Given the description of an element on the screen output the (x, y) to click on. 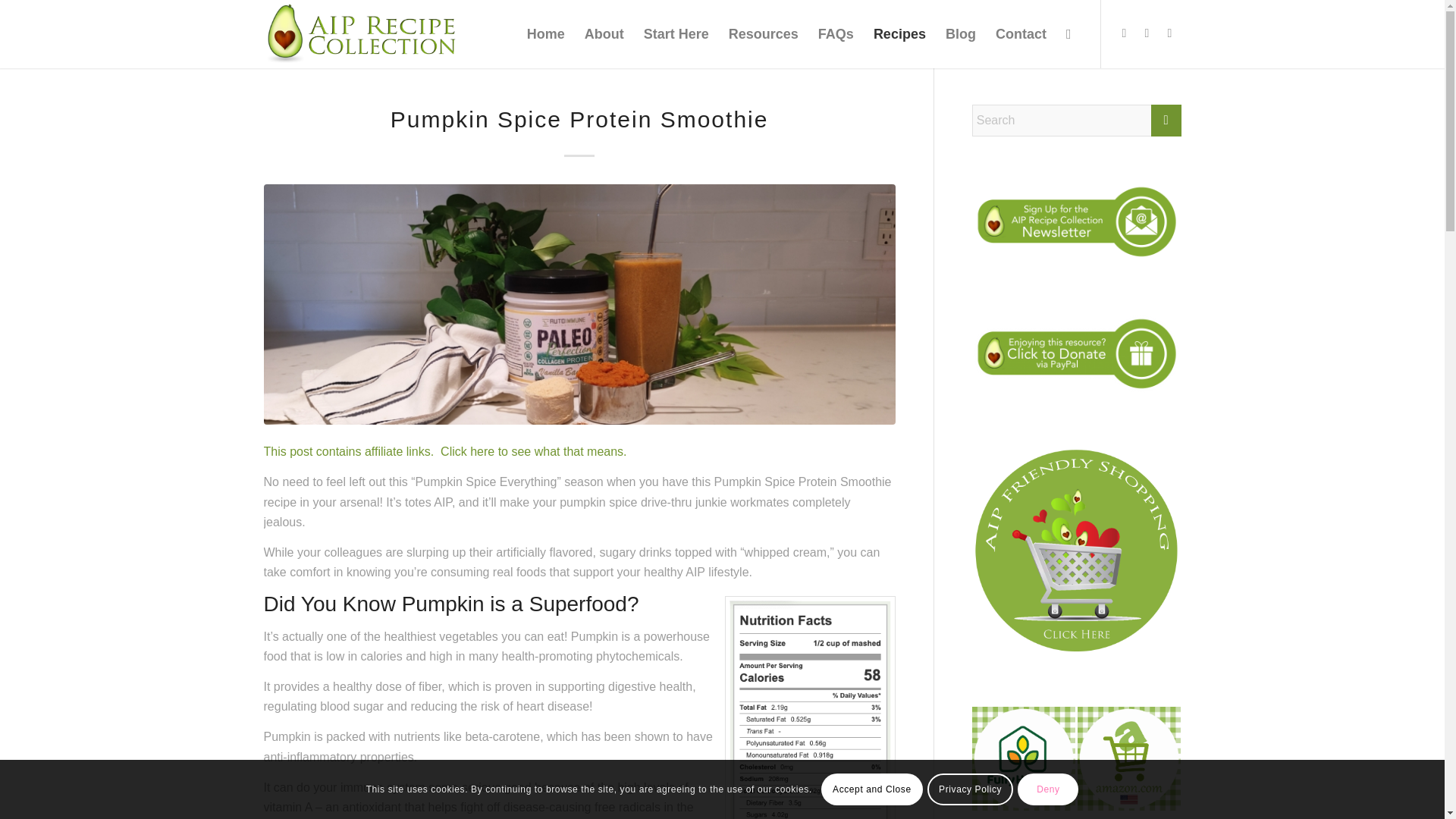
Resources (763, 33)
Instagram (1146, 33)
Start Here (676, 33)
Click to start search (1165, 120)
Recipes (899, 33)
Facebook (1124, 33)
Contact (1021, 33)
X (1169, 33)
